Given the description of an element on the screen output the (x, y) to click on. 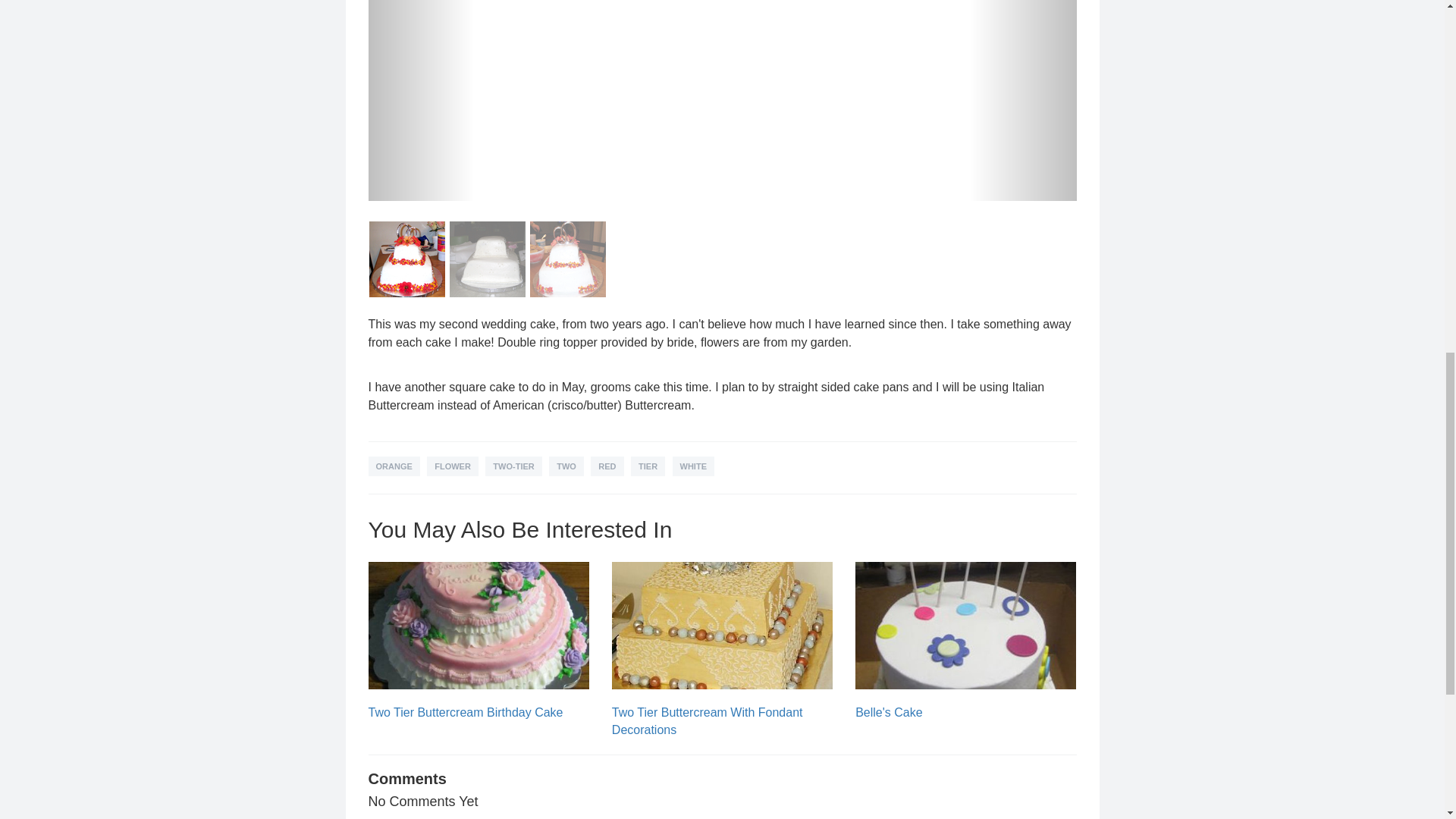
TWO (565, 465)
WHITE (693, 465)
ORANGE (394, 465)
Belle's Cake (888, 712)
Two Tier Buttercream With Fondant Decorations (707, 720)
TIER (647, 465)
Two Tier Buttercream Birthday Cake (465, 712)
RED (607, 465)
TWO-TIER (512, 465)
FLOWER (452, 465)
